Given the description of an element on the screen output the (x, y) to click on. 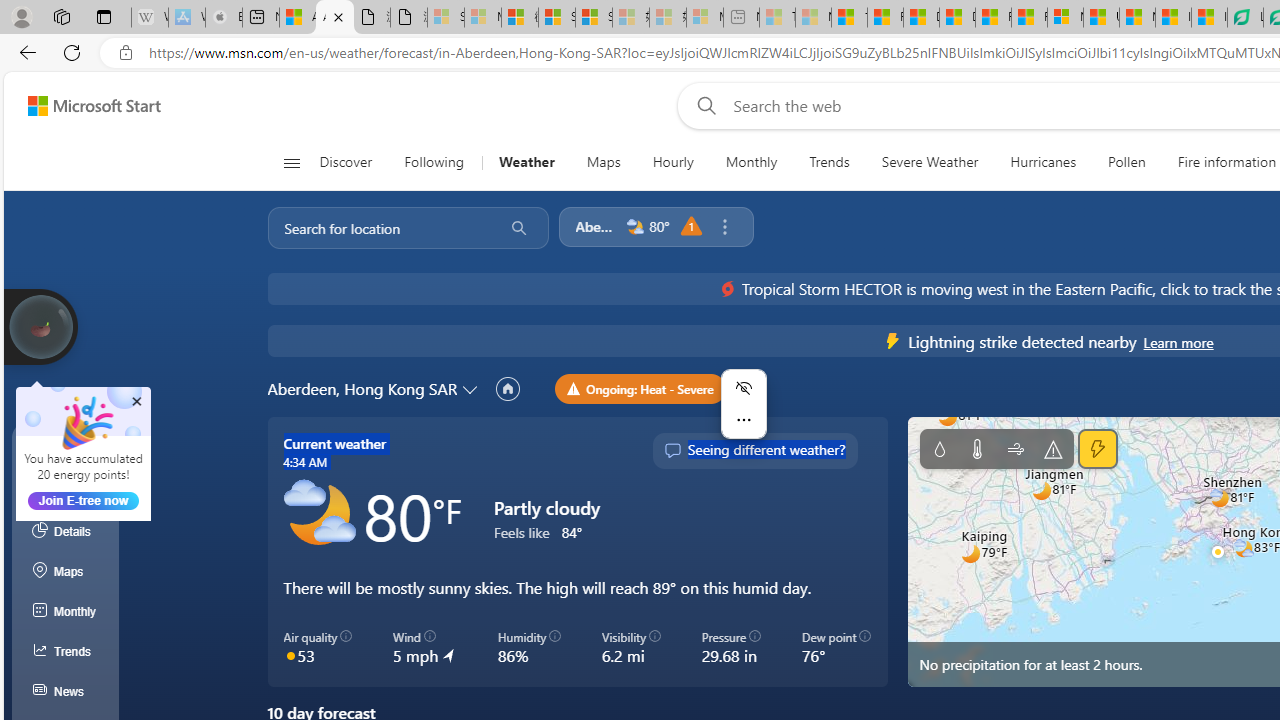
Severe weather (1053, 449)
Pollen (1126, 162)
Set as primary location (508, 389)
Monthly (751, 162)
Wind 5 mph (424, 647)
Trends (65, 651)
Search for location (379, 227)
Remove location (724, 227)
Drinking tea every day is proven to delay biological aging (957, 17)
